Given the description of an element on the screen output the (x, y) to click on. 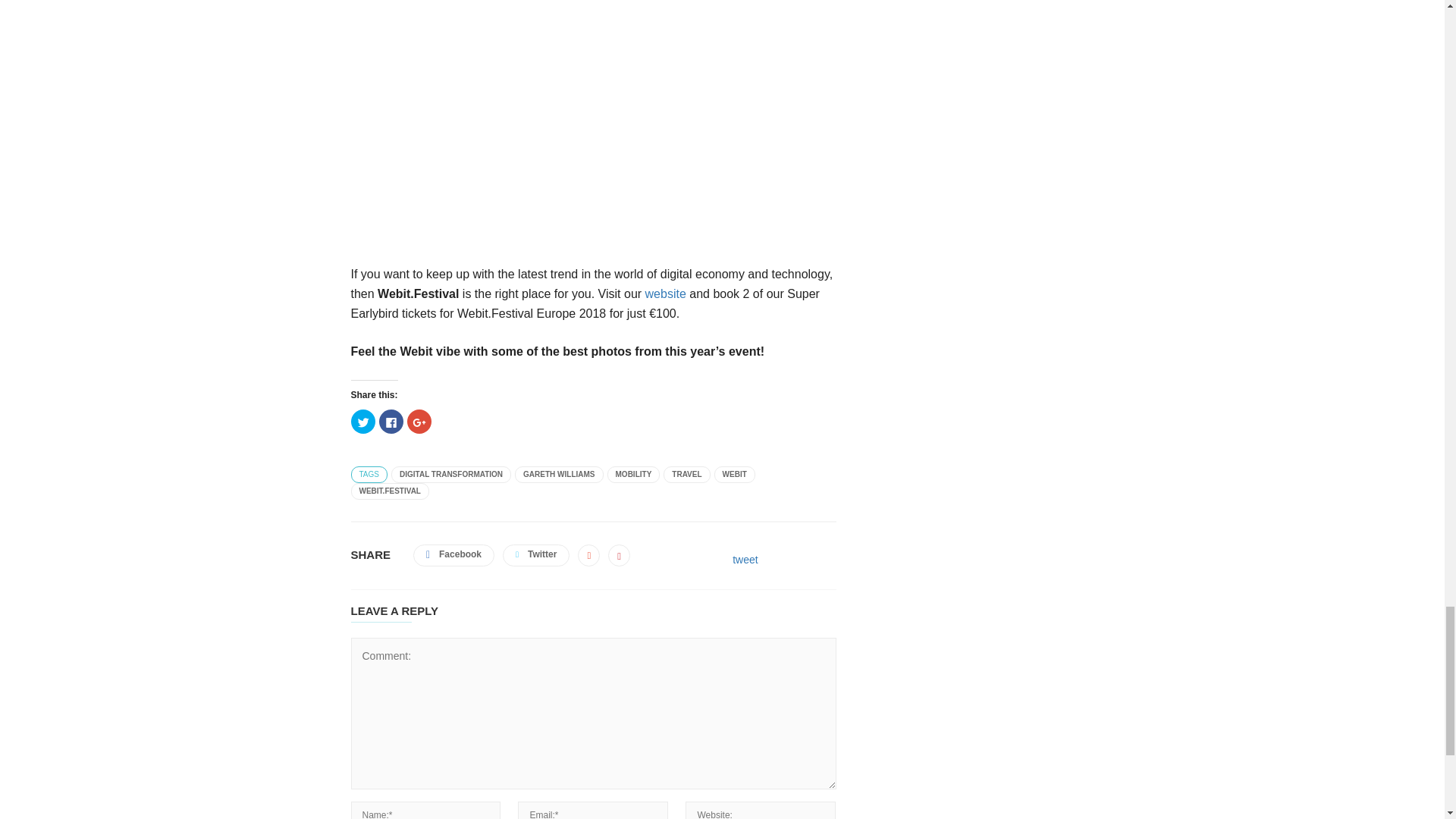
DIGITAL TRANSFORMATION (451, 474)
GARETH WILLIAMS (558, 474)
MOBILITY (634, 474)
website (665, 293)
